Given the description of an element on the screen output the (x, y) to click on. 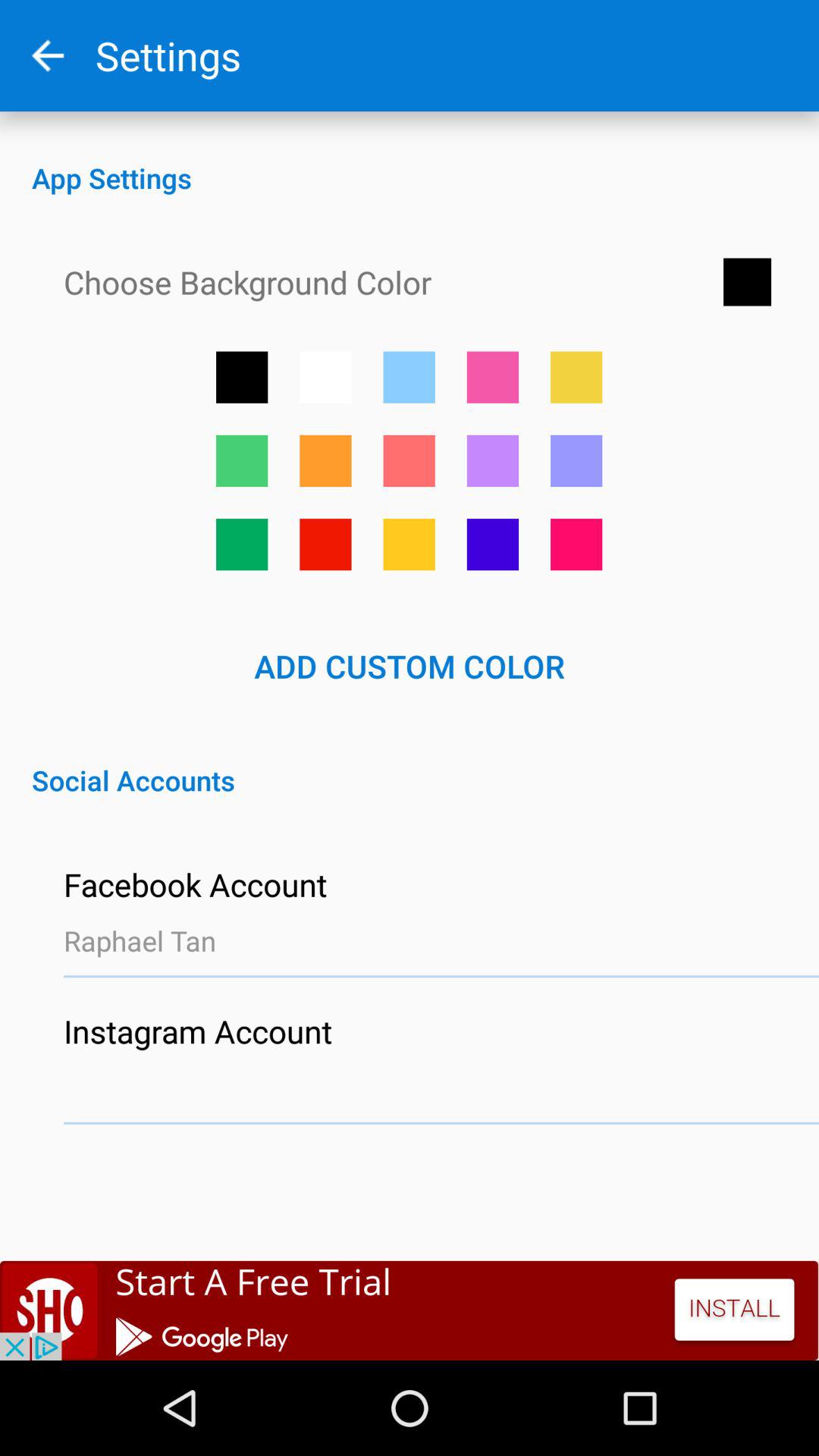
select pale blue (576, 460)
